Given the description of an element on the screen output the (x, y) to click on. 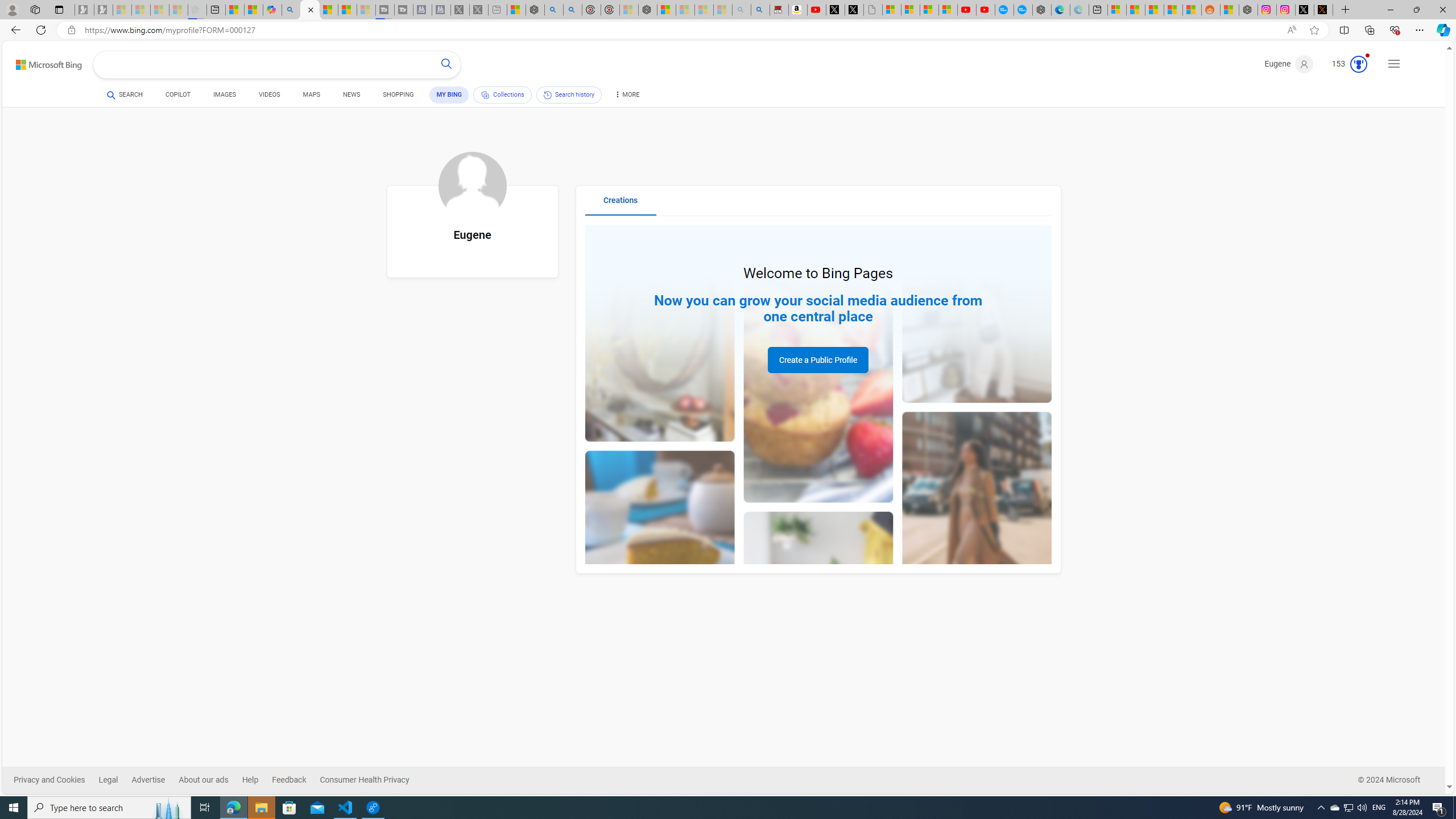
Privacy and Cookies (56, 780)
help.x.com | 524: A timeout occurred (1323, 9)
Create a Public Profile (818, 360)
About our ads (210, 780)
Legal (108, 779)
VIDEOS (268, 96)
MAPS (311, 96)
Log in to X / X (1304, 9)
COPILOT (178, 96)
Class: medal-circled (1358, 63)
